Given the description of an element on the screen output the (x, y) to click on. 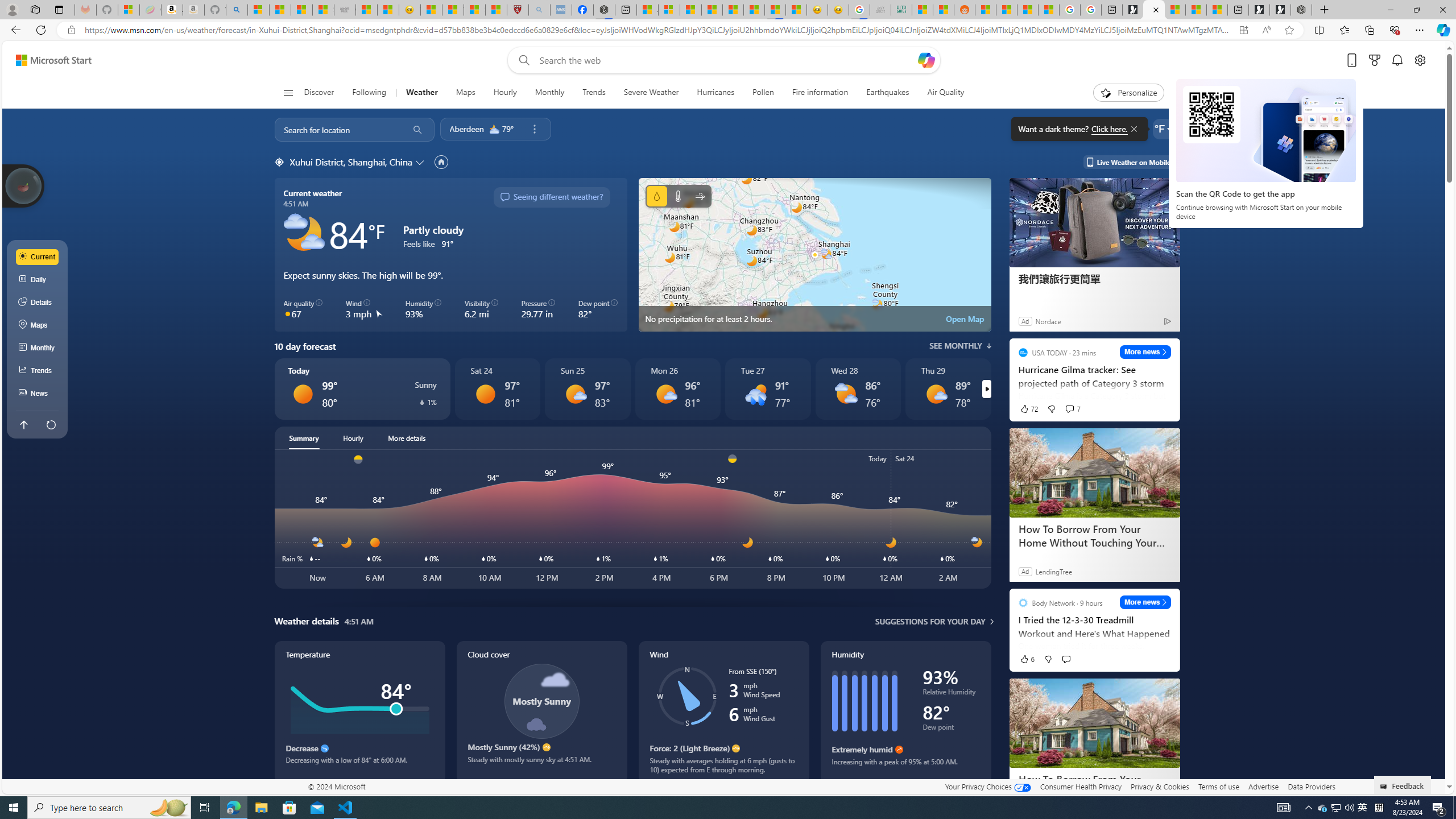
Hurricanes (716, 92)
No precipitation for at least 2 hours (814, 254)
Humidity (905, 711)
